Given the description of an element on the screen output the (x, y) to click on. 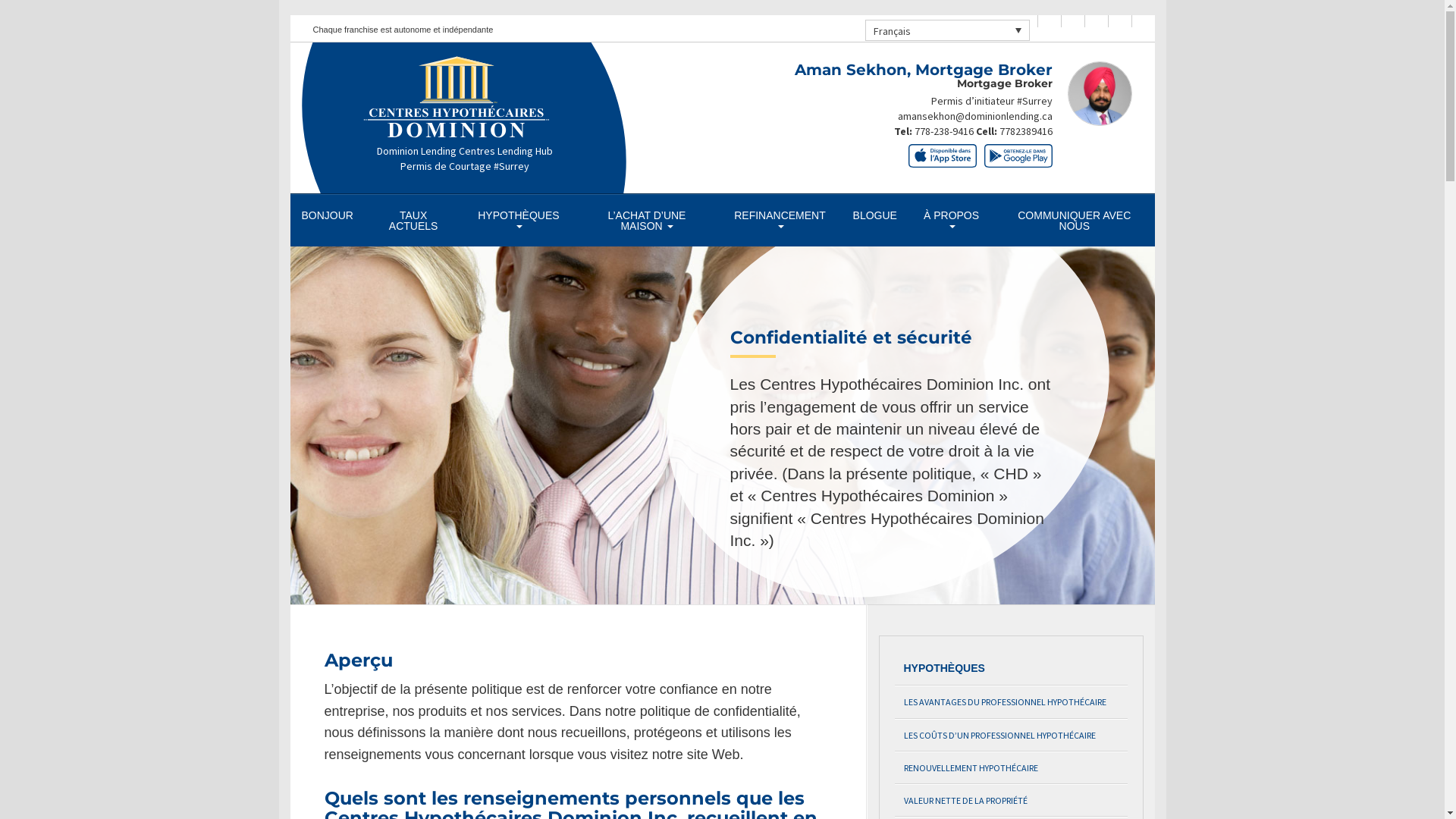
TAUX ACTUELS Element type: text (412, 220)
COMMUNIQUER AVEC NOUS Element type: text (1074, 220)
amansekhon@dominionlending.ca Element type: text (974, 115)
BLOGUE Element type: text (874, 214)
7782389416 Element type: text (1025, 131)
778-238-9416 Element type: text (943, 131)
BONJOUR Element type: text (326, 214)
REFINANCEMENT Element type: text (779, 220)
